Given the description of an element on the screen output the (x, y) to click on. 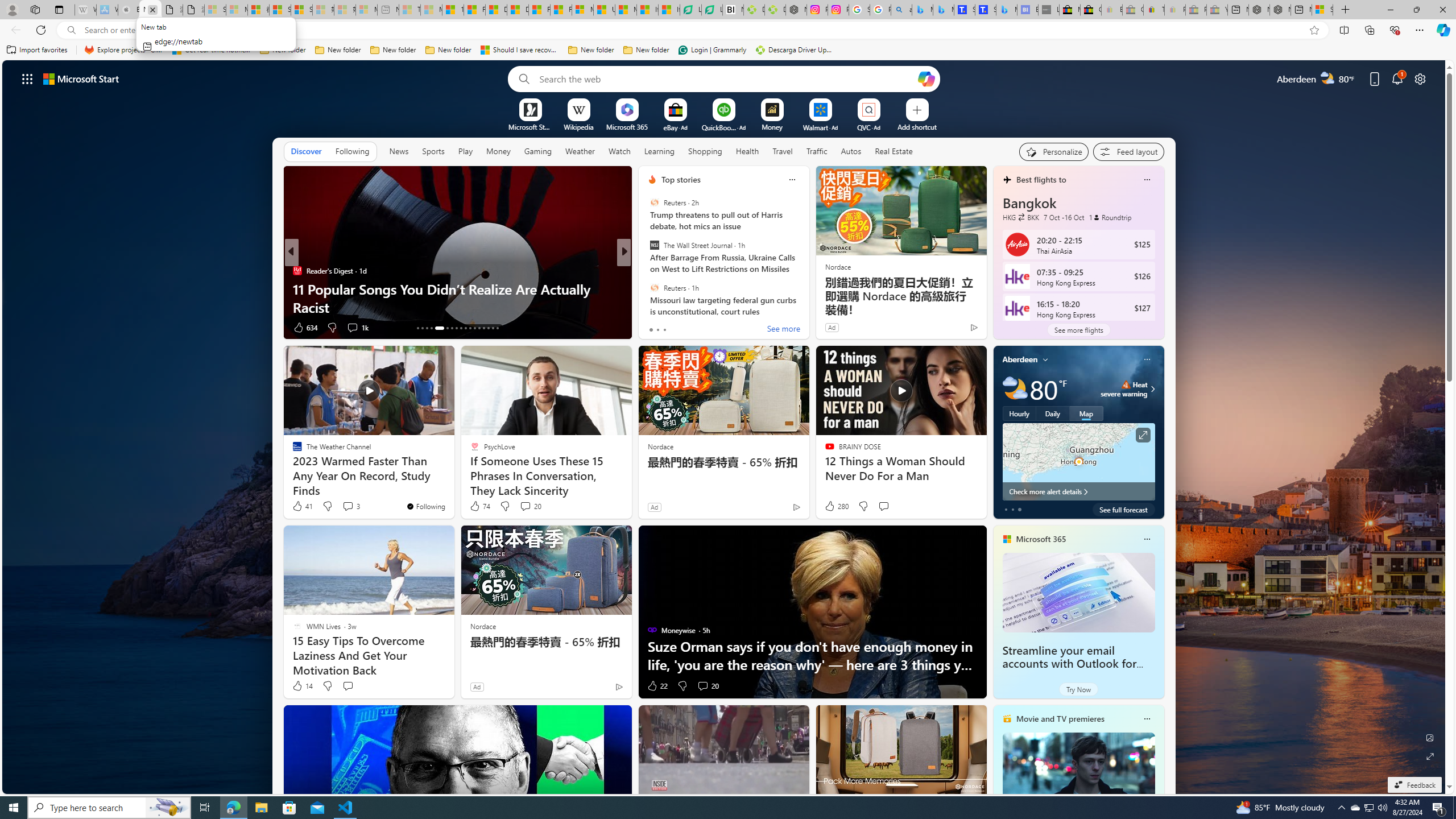
My location (1045, 359)
AutomationID: tab-15 (426, 328)
Personalize your feed" (1054, 151)
Login | Grammarly (712, 49)
Ash & Pri (647, 270)
768 Like (654, 327)
Try Now (1078, 689)
AutomationID: tab-21 (460, 328)
